Given the description of an element on the screen output the (x, y) to click on. 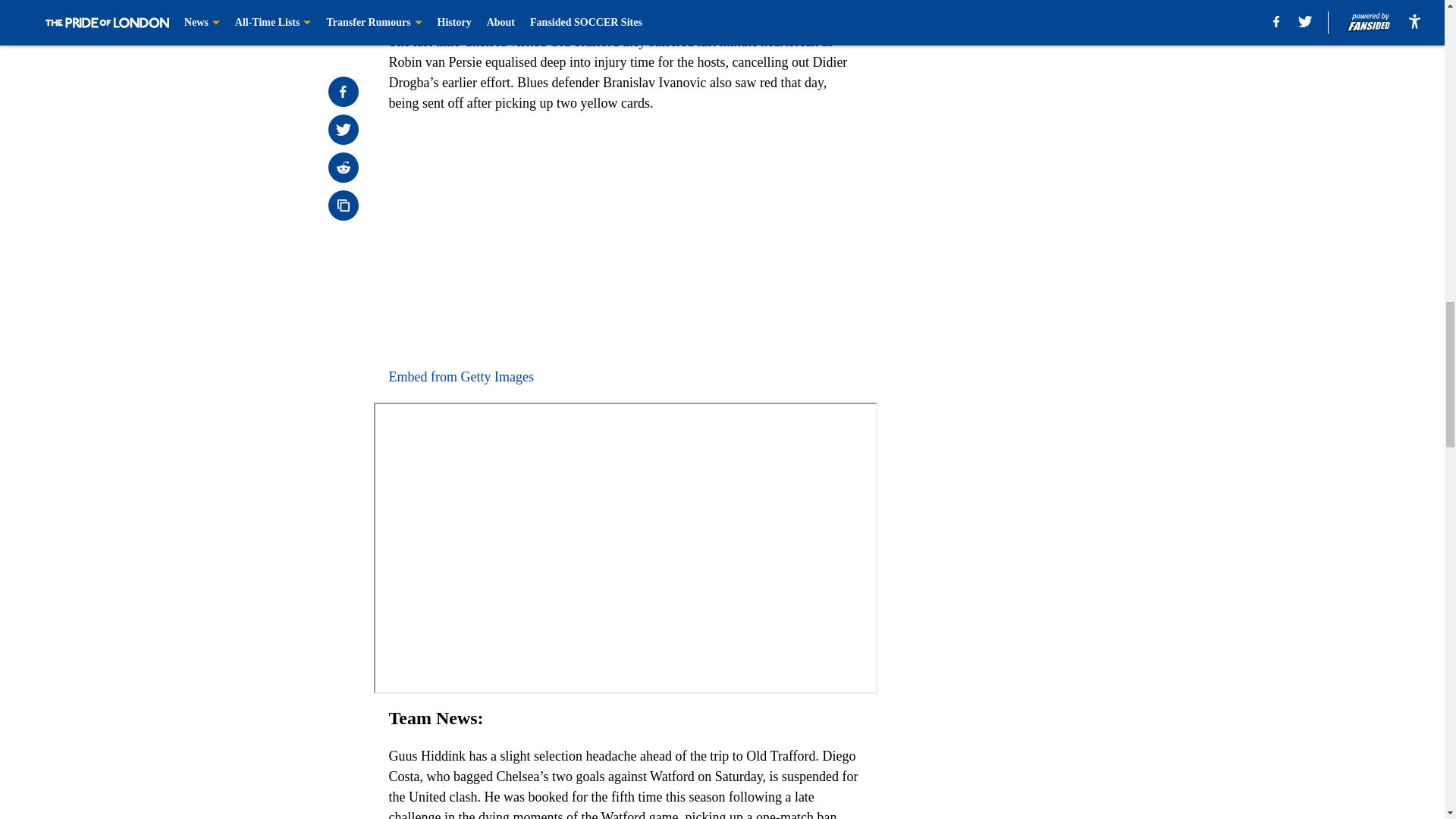
Embed from Getty Images (460, 376)
